Given the description of an element on the screen output the (x, y) to click on. 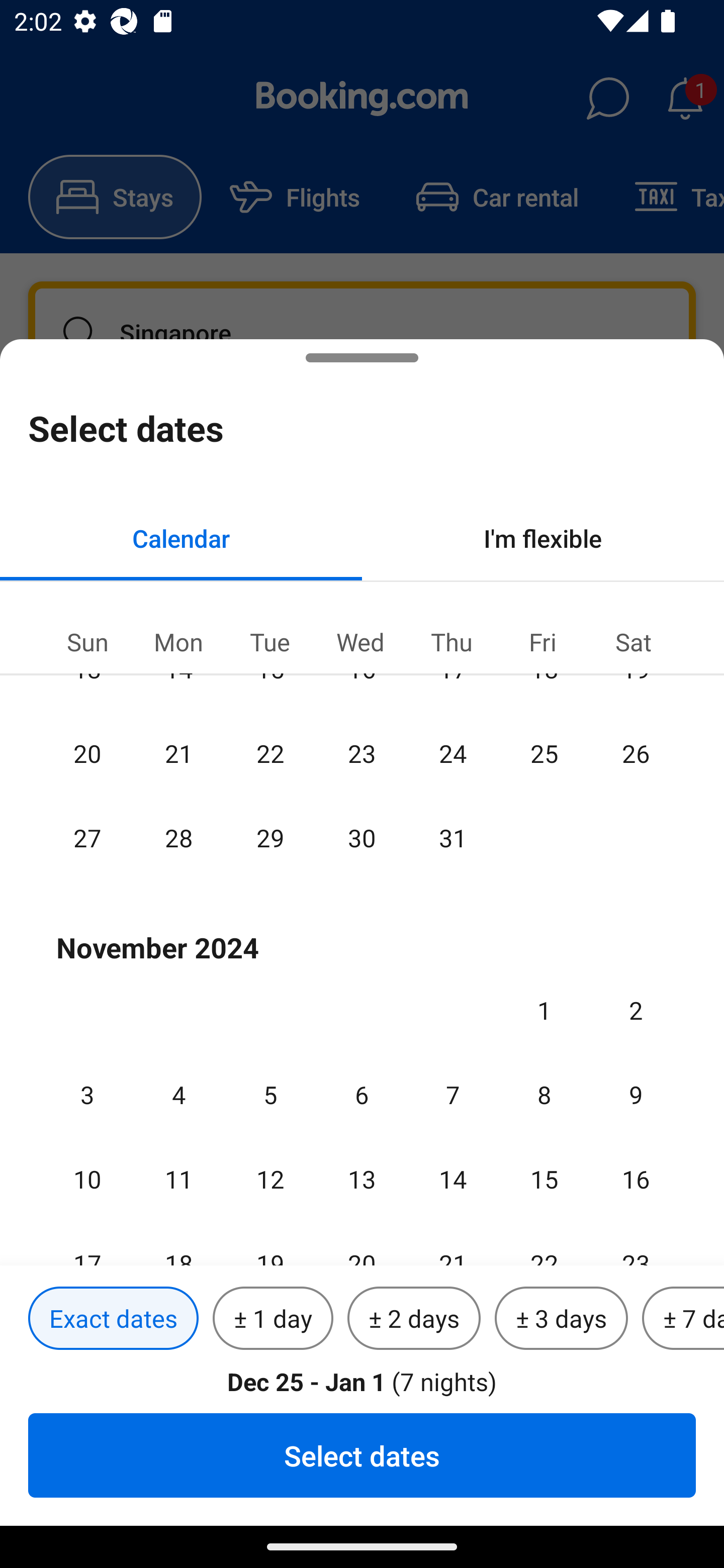
I'm flexible (543, 537)
Exact dates (113, 1318)
± 1 day (272, 1318)
± 2 days (413, 1318)
± 3 days (560, 1318)
± 7 days (683, 1318)
Select dates (361, 1454)
